Given the description of an element on the screen output the (x, y) to click on. 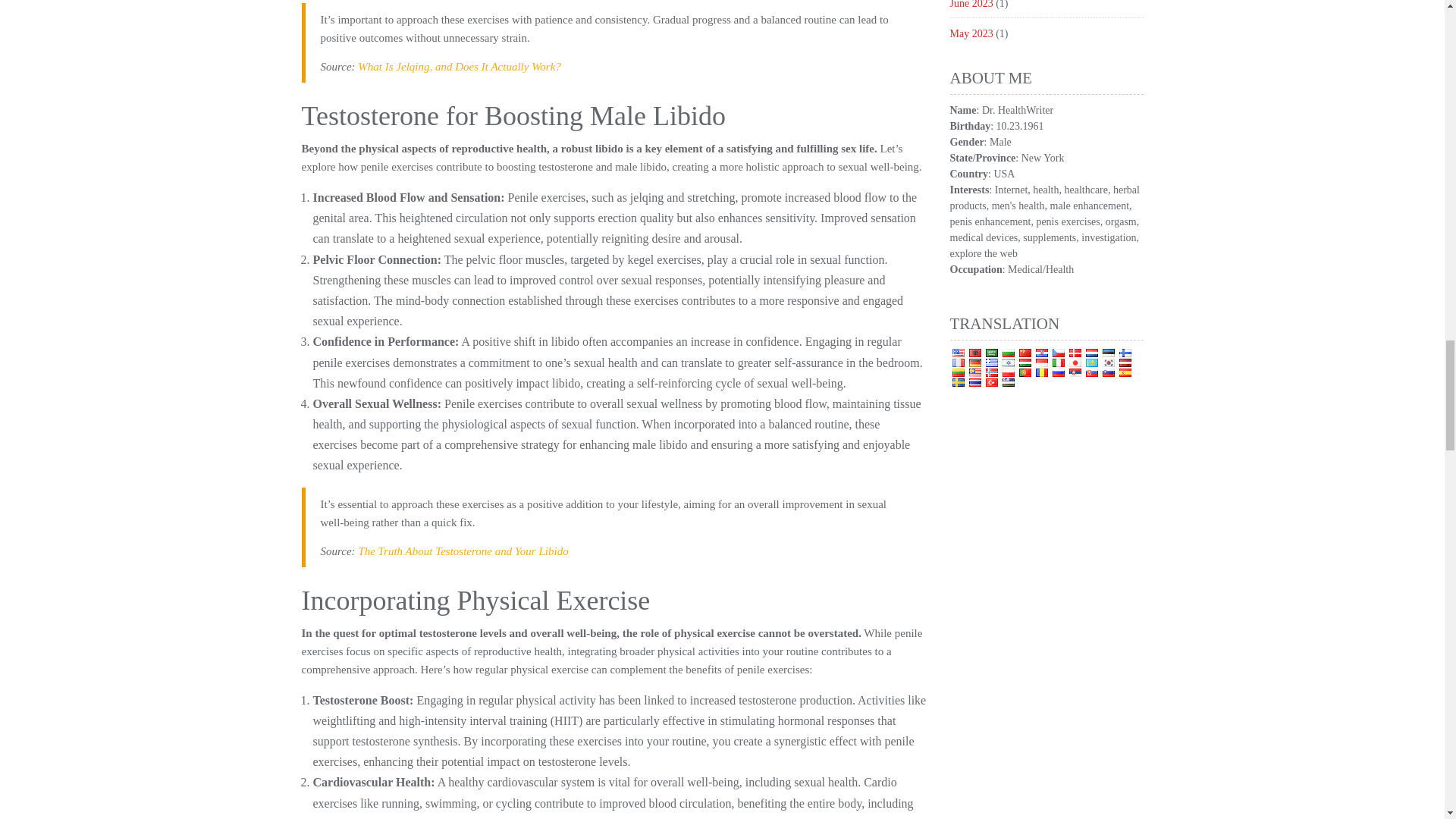
The Truth About Testosterone and Your Libido (462, 551)
What Is Jelqing, and Does It Actually Work? (459, 66)
